Given the description of an element on the screen output the (x, y) to click on. 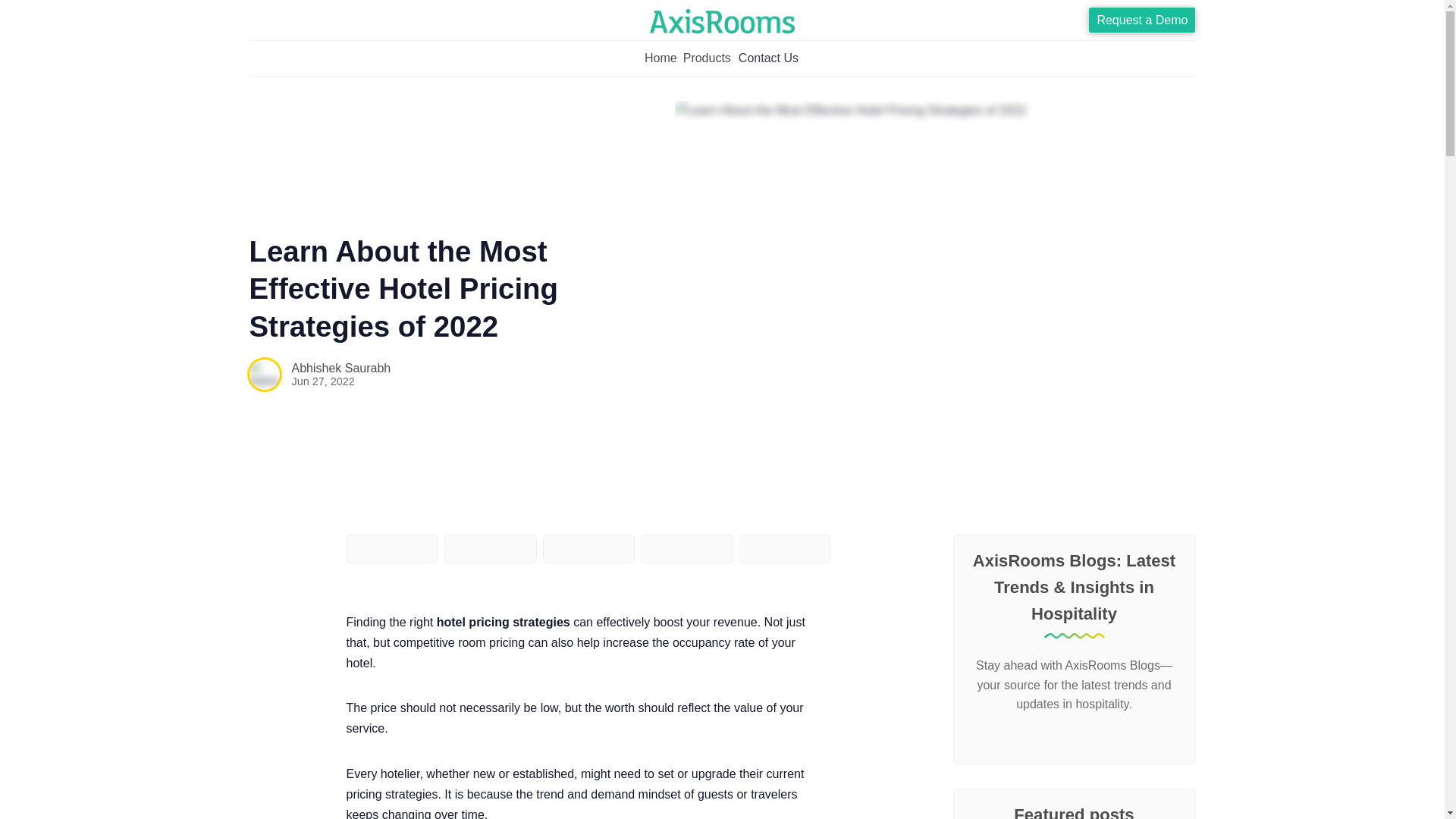
Instagram (1083, 735)
Abhishek Saurabh (340, 367)
More (706, 57)
Request a Demo (1142, 19)
Home (661, 57)
Copy to clipboard (785, 548)
Share on Linkedin (588, 548)
Linkedin (1108, 735)
Products (706, 57)
Twitter (1058, 735)
